Given the description of an element on the screen output the (x, y) to click on. 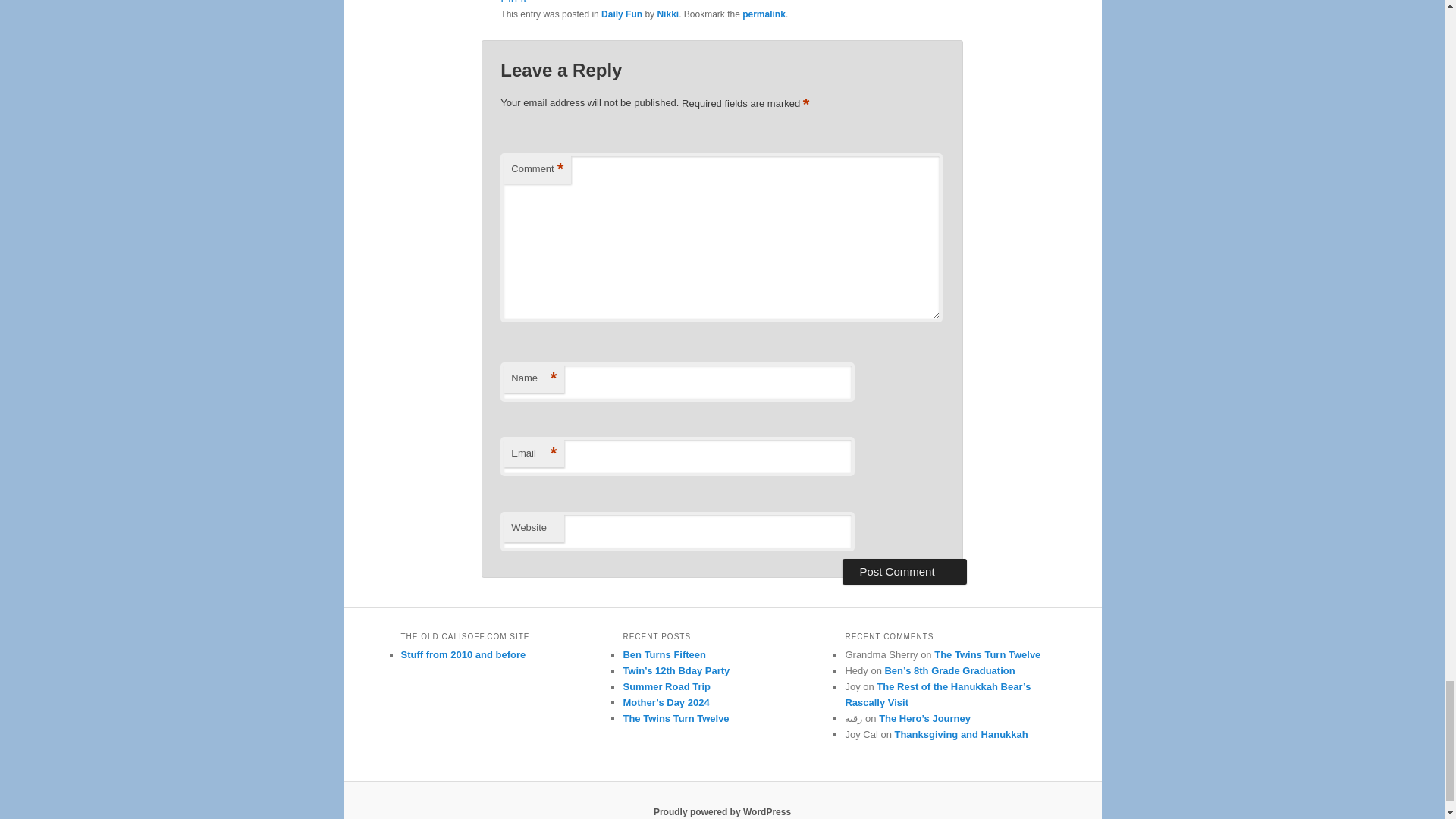
Semantic Personal Publishing Platform (721, 810)
Post Comment (904, 571)
Permalink to Happy 3rd Birthday, Twins! (764, 14)
